Given the description of an element on the screen output the (x, y) to click on. 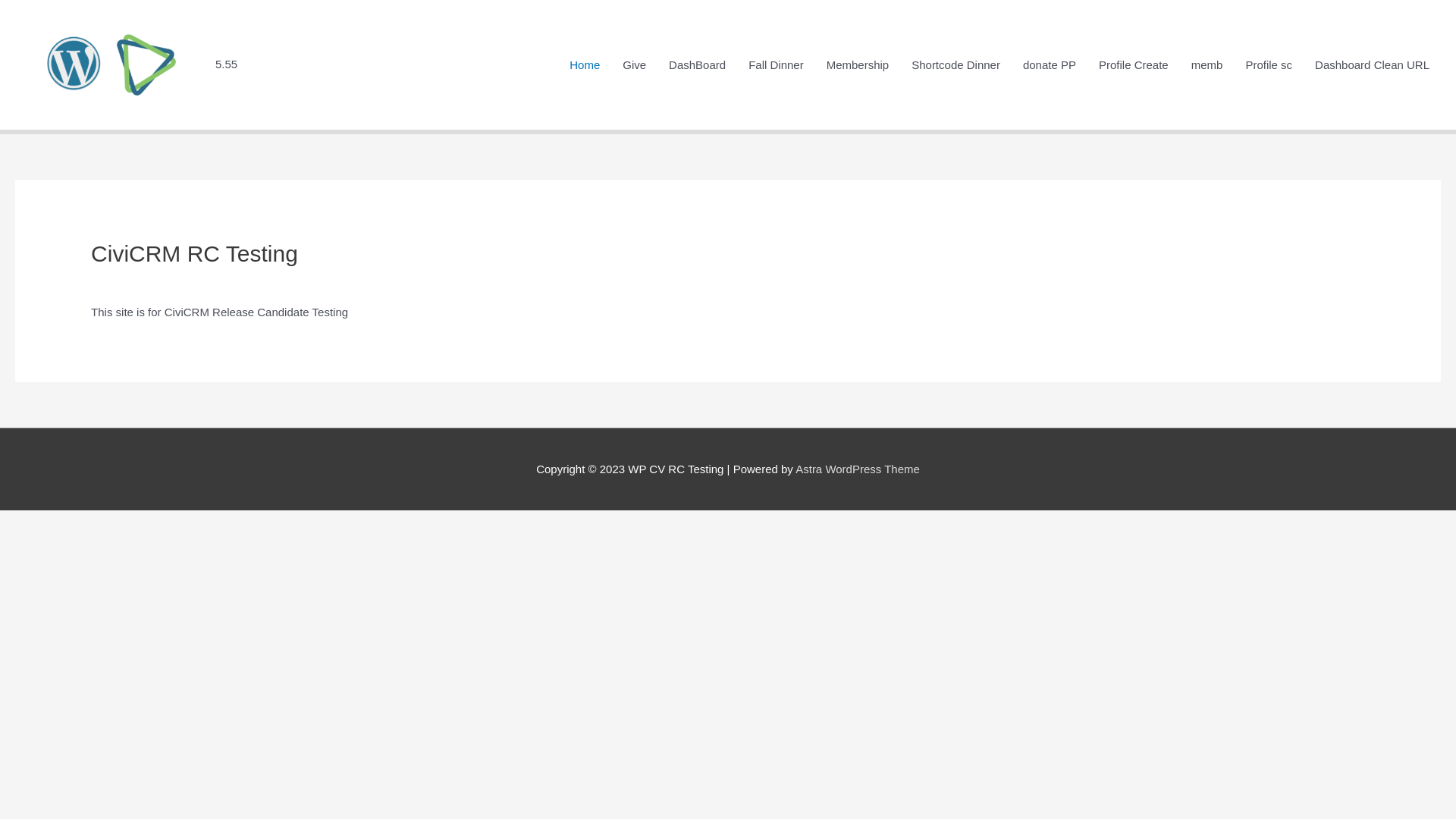
Home Element type: text (584, 64)
Dashboard Clean URL Element type: text (1371, 64)
Give Element type: text (634, 64)
Shortcode Dinner Element type: text (955, 64)
Profile Create Element type: text (1133, 64)
Profile sc Element type: text (1268, 64)
donate PP Element type: text (1049, 64)
Fall Dinner Element type: text (776, 64)
memb Element type: text (1206, 64)
DashBoard Element type: text (697, 64)
Astra WordPress Theme Element type: text (857, 468)
Membership Element type: text (857, 64)
